Given the description of an element on the screen output the (x, y) to click on. 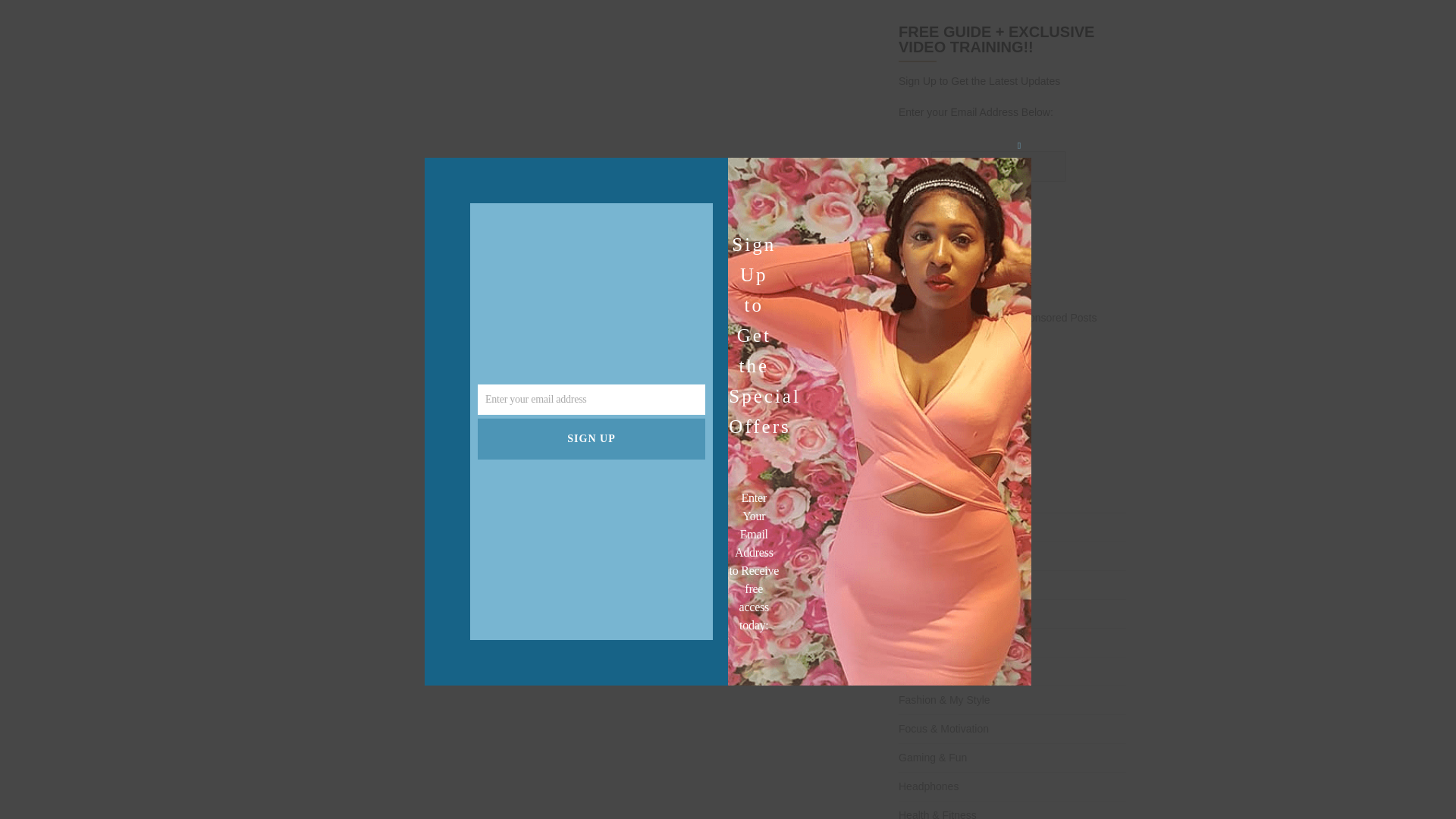
Submit (922, 209)
